Given the description of an element on the screen output the (x, y) to click on. 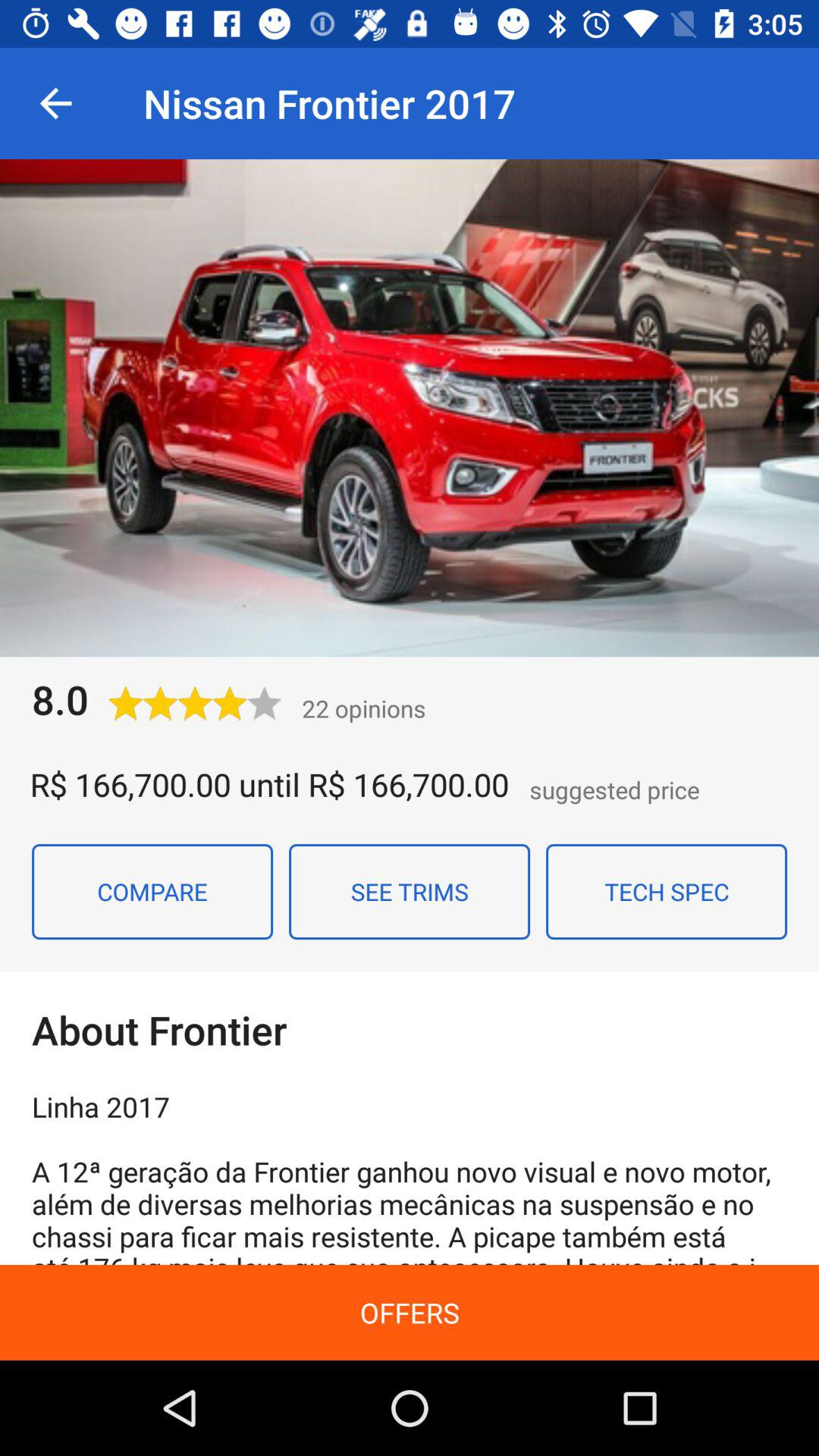
jump until compare (152, 891)
